Given the description of an element on the screen output the (x, y) to click on. 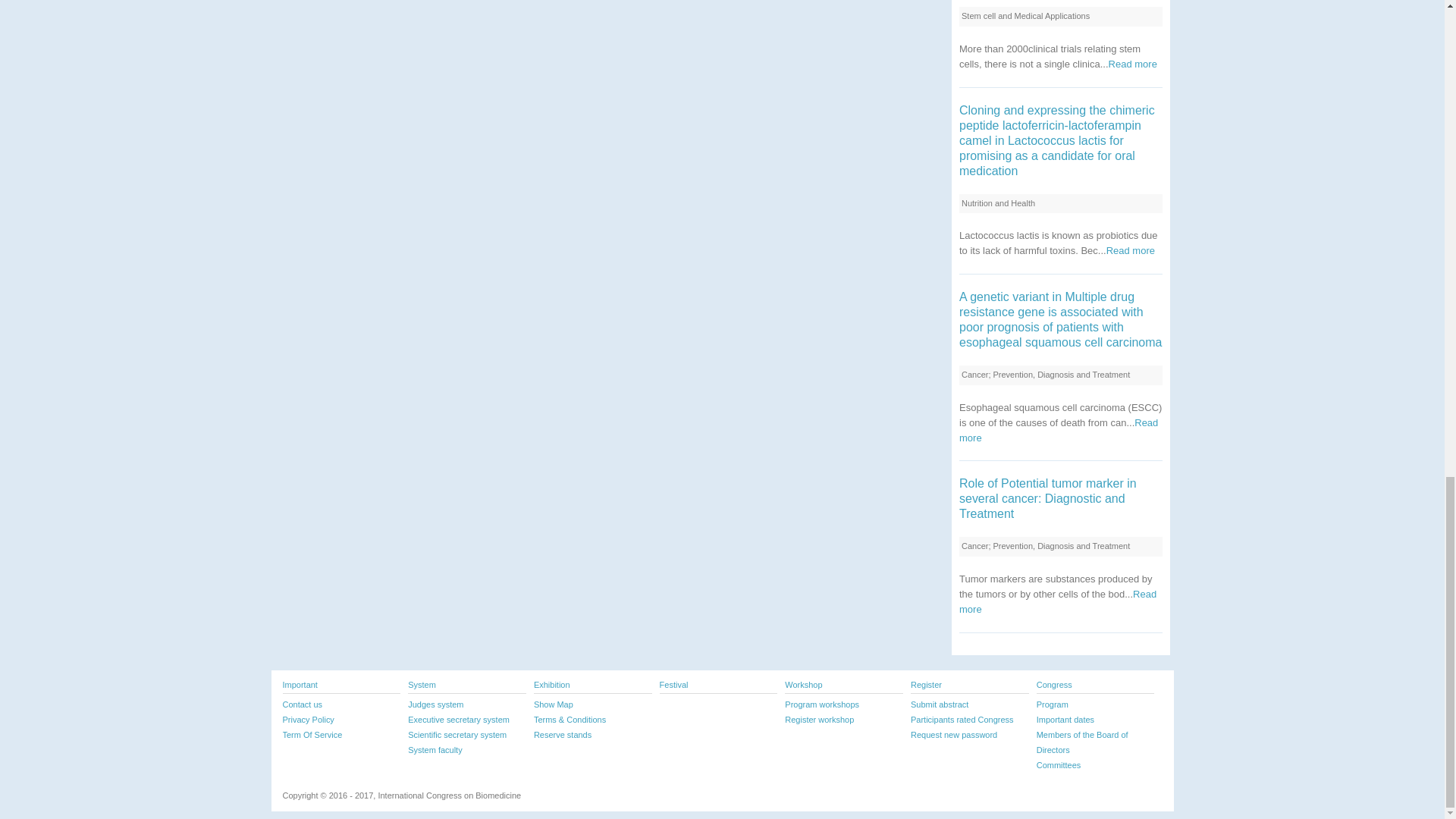
Read more (1132, 63)
Read more (1130, 250)
Read more (1058, 429)
